Given the description of an element on the screen output the (x, y) to click on. 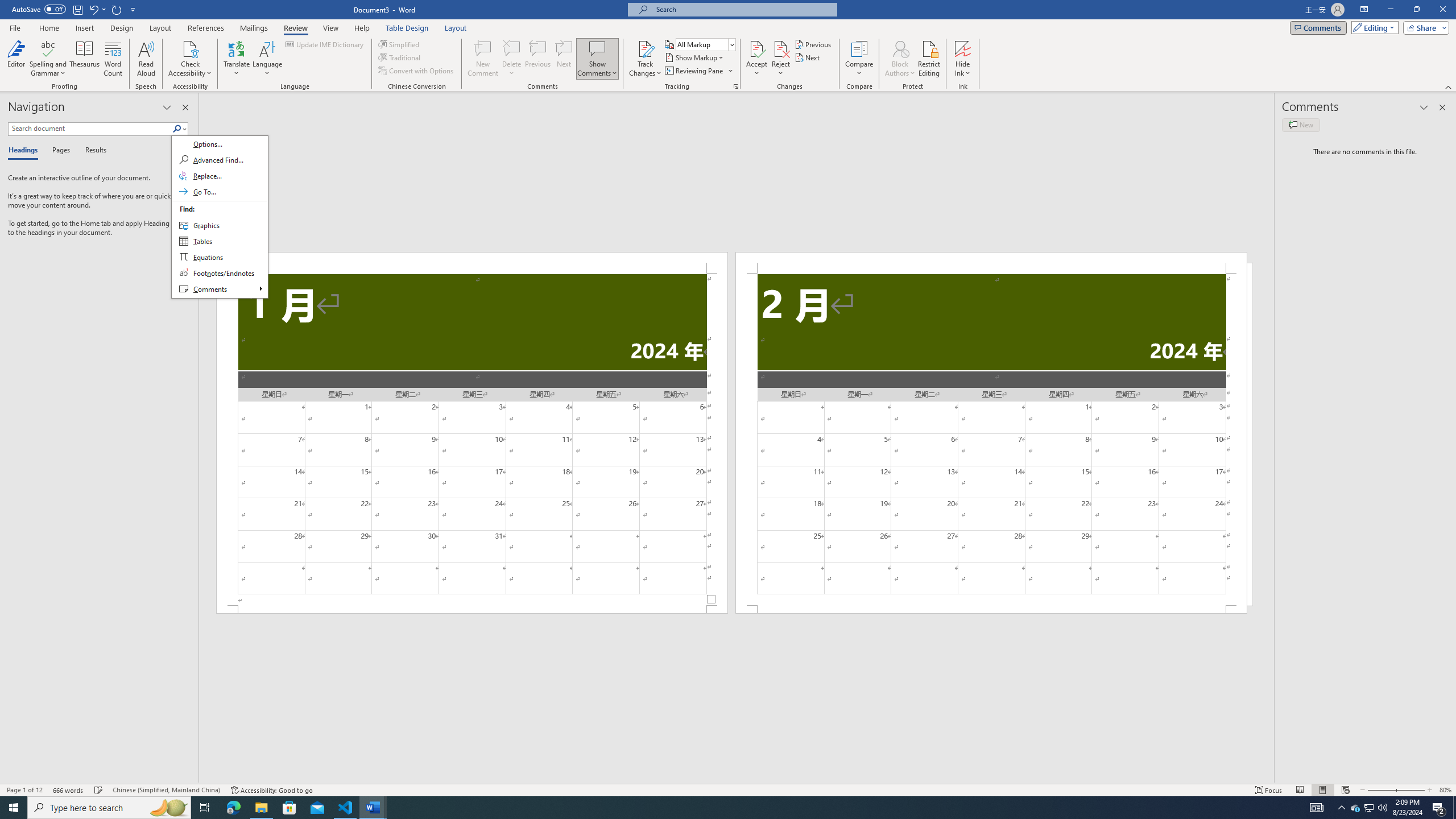
Word Count (113, 58)
Delete (511, 48)
Translate (236, 58)
Spelling and Grammar (48, 58)
Check Accessibility (189, 48)
